Given the description of an element on the screen output the (x, y) to click on. 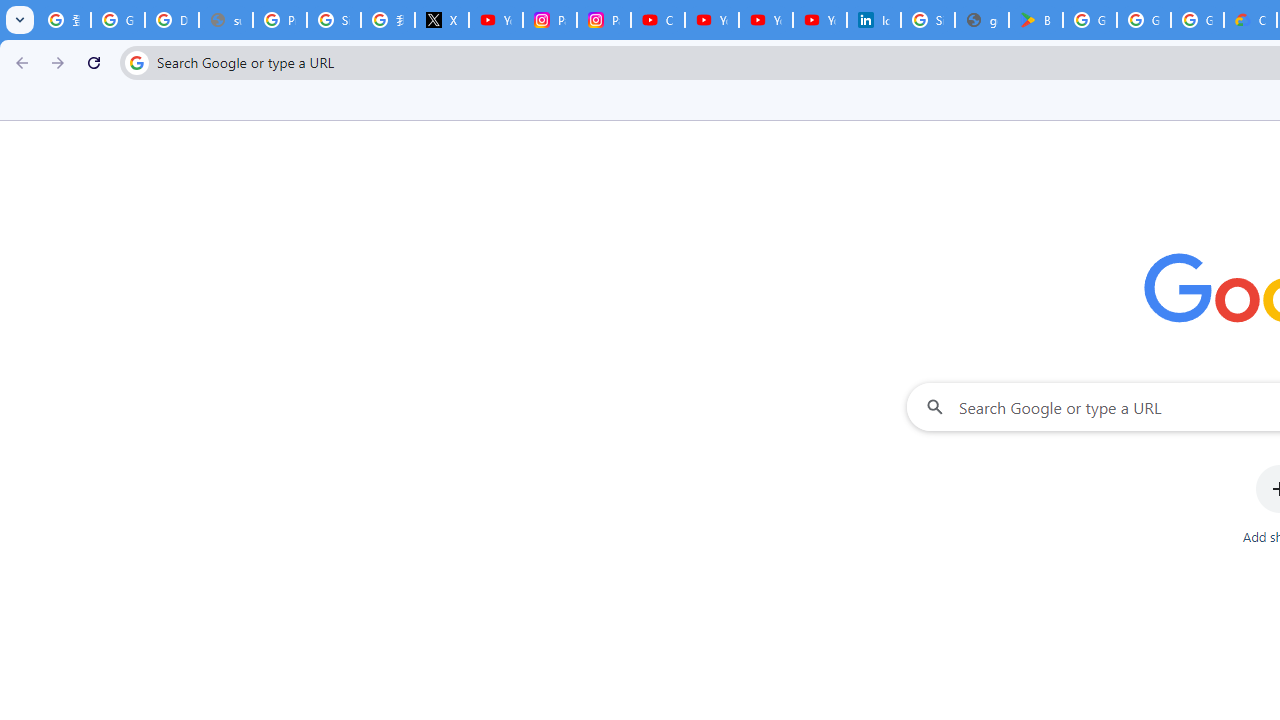
Sign in - Google Accounts (927, 20)
support.google.com - Network error (225, 20)
YouTube Culture & Trends - YouTube Top 10, 2021 (819, 20)
Identity verification via Persona | LinkedIn Help (874, 20)
Google Workspace - Specific Terms (1144, 20)
